Given the description of an element on the screen output the (x, y) to click on. 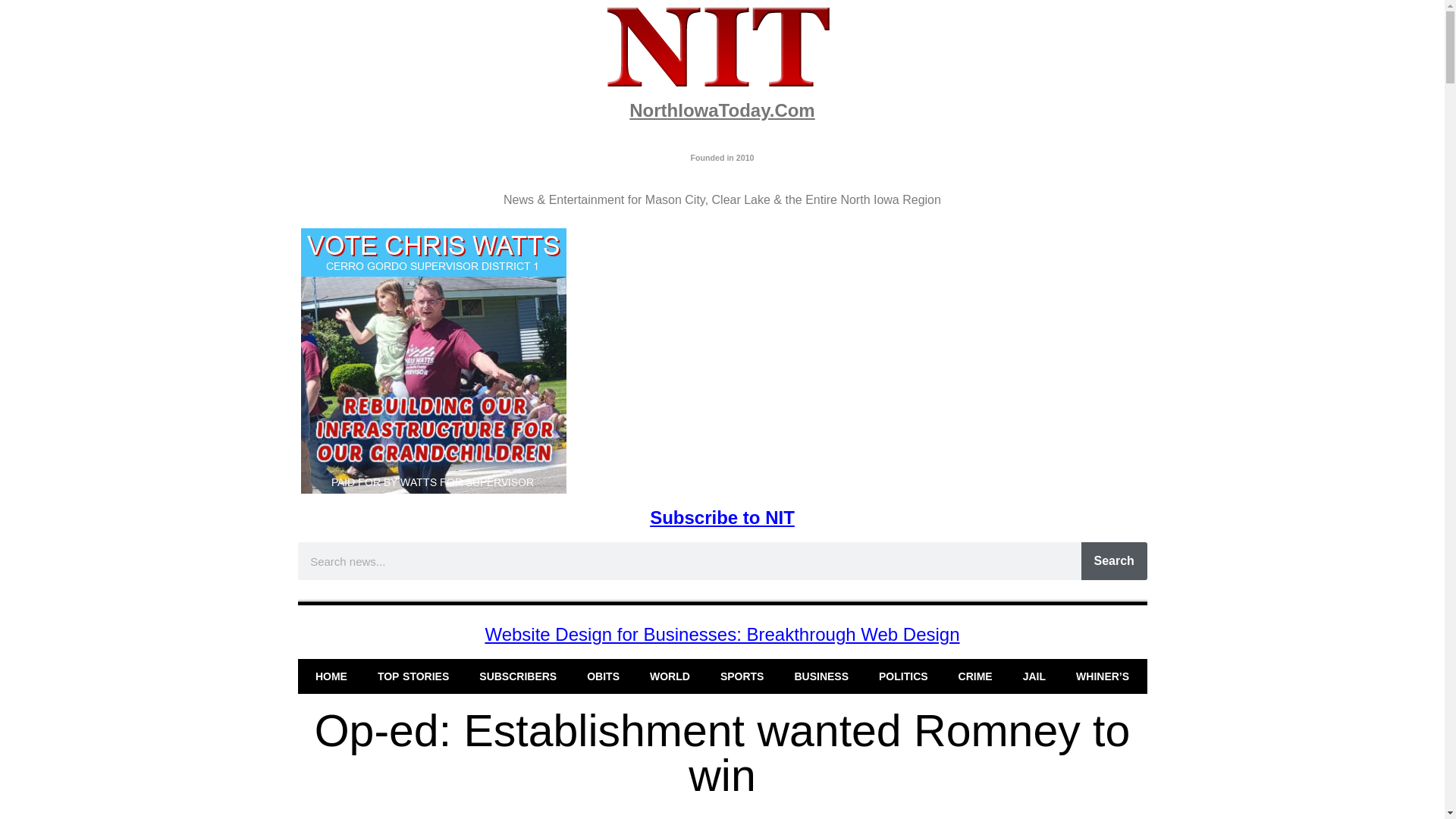
NorthIowaToday.Com (720, 109)
TOP STORIES (413, 676)
BUSINESS (820, 676)
CRIME (975, 676)
Search (1114, 560)
SUBSCRIBERS (518, 676)
HOME (330, 676)
Subscribe to NIT (721, 516)
OBITS (603, 676)
POLITICS (903, 676)
